Given the description of an element on the screen output the (x, y) to click on. 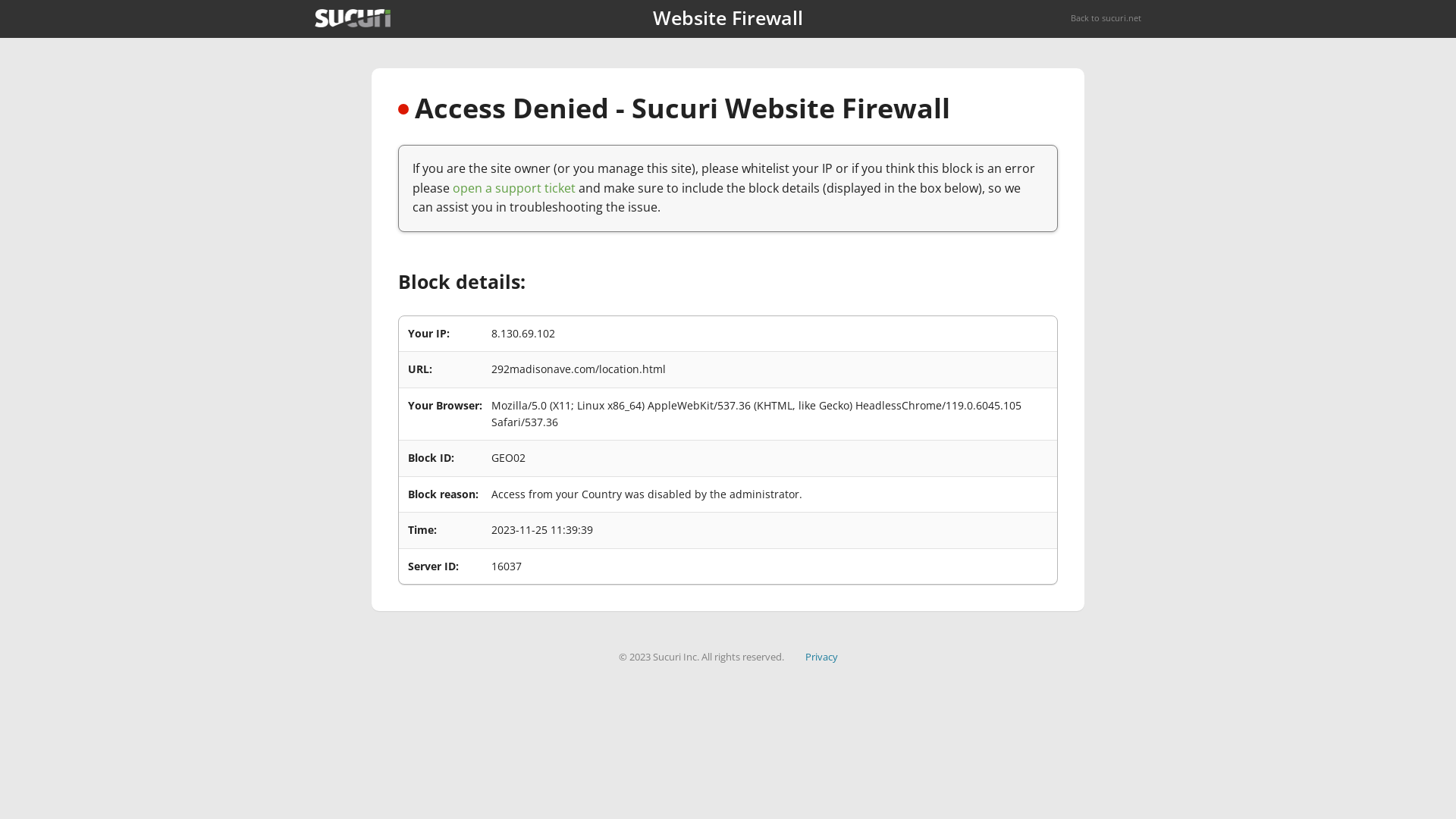
Back to sucuri.net Element type: text (1105, 18)
open a support ticket Element type: text (513, 187)
Privacy Element type: text (821, 656)
